Given the description of an element on the screen output the (x, y) to click on. 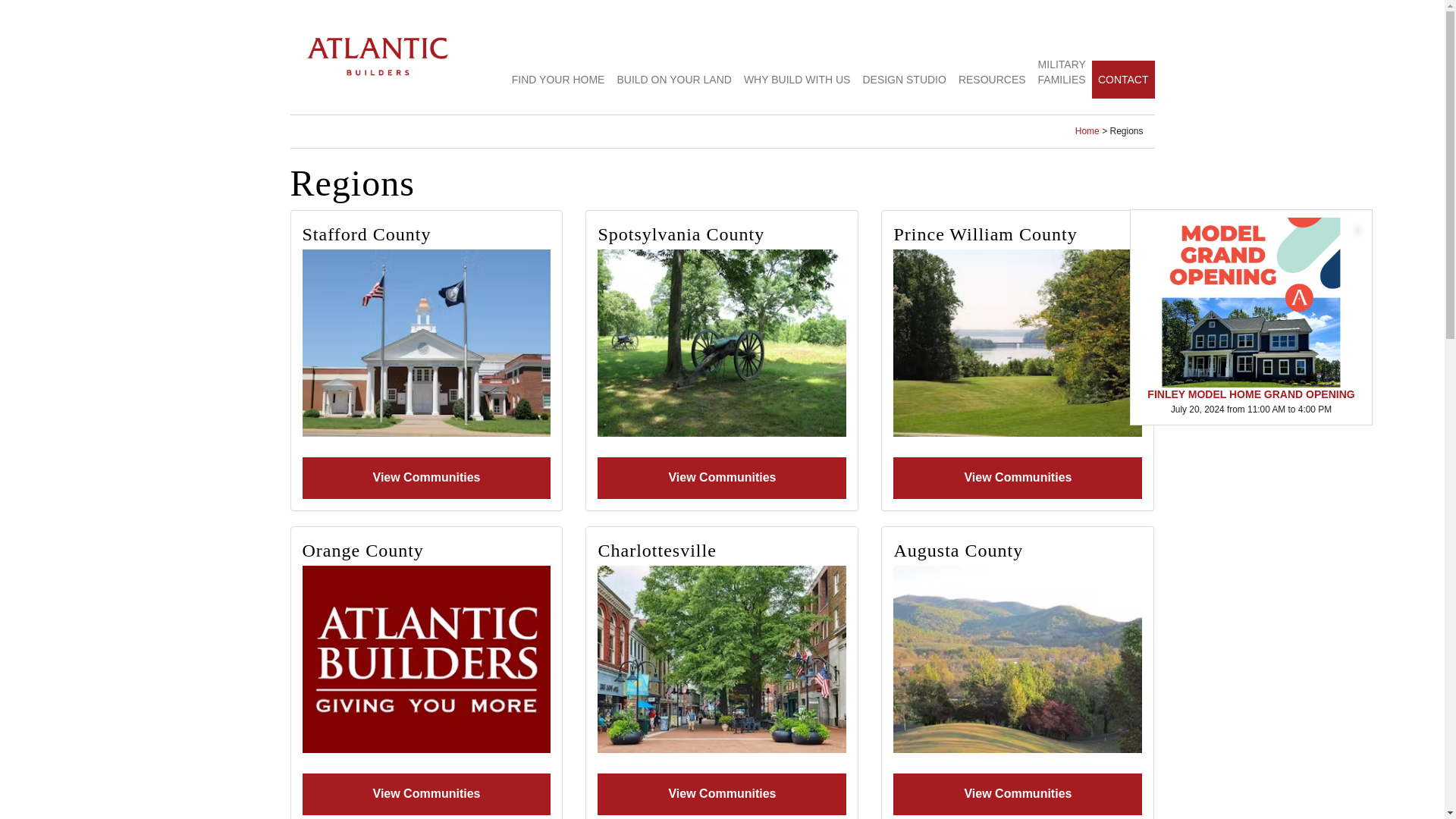
FIND YOUR HOME (558, 79)
RESOURCES (992, 79)
More in Augusta County (1017, 658)
FINLEY MODEL HOME GRAND OPENING (1251, 308)
More in Charlottesville (720, 658)
DESIGN STUDIO (904, 79)
More in Spotsylvania County (720, 342)
More in Stafford County (425, 342)
More in Orange County (425, 658)
WHY BUILD WITH US (797, 79)
More in Prince William County (1017, 342)
BUILD ON YOUR LAND (673, 79)
